Given the description of an element on the screen output the (x, y) to click on. 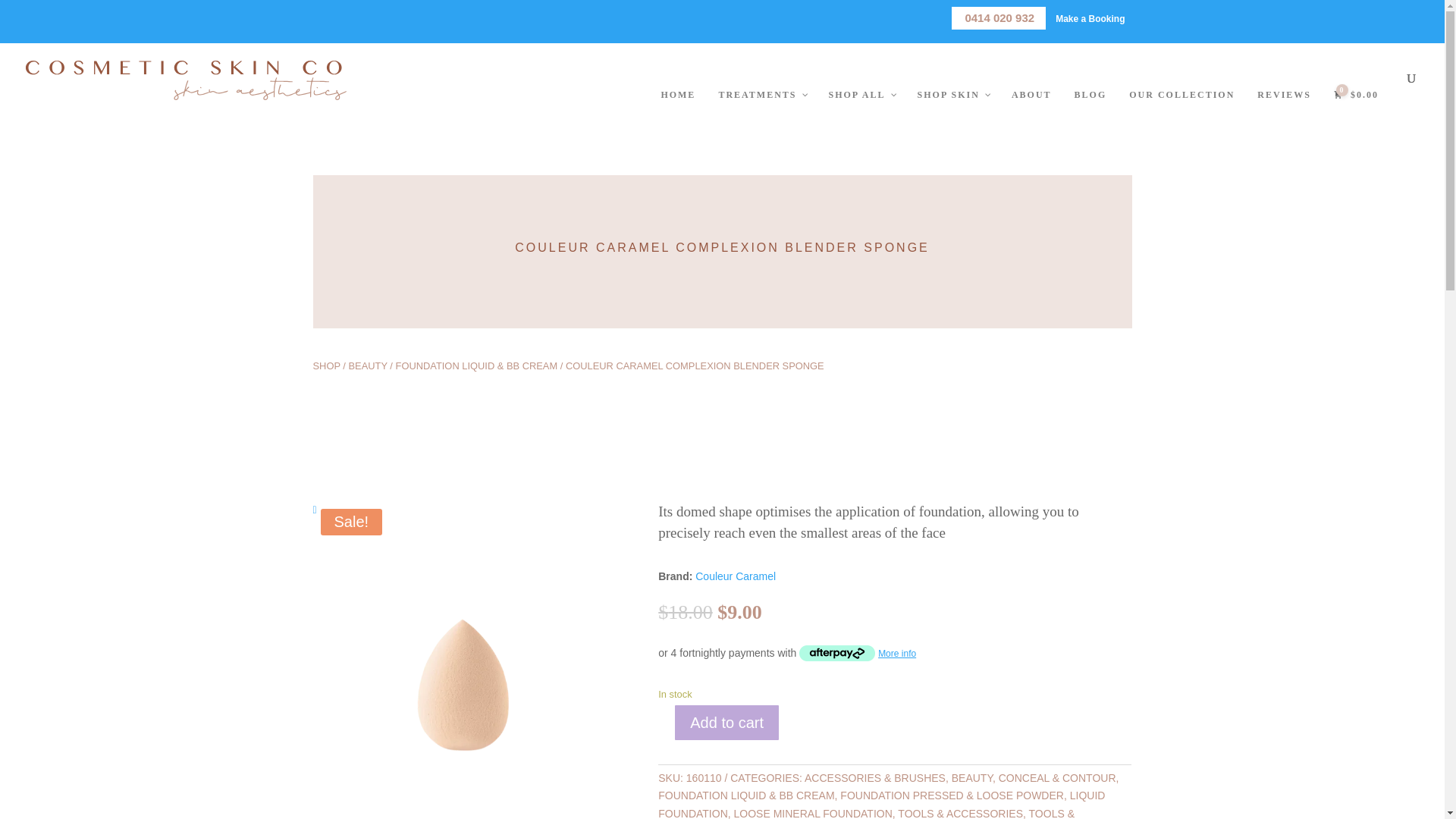
SHOP ALL (860, 94)
Complexion Blender Sponge (462, 668)
0414 020 932 (998, 16)
Make a Booking (1089, 18)
TREATMENTS (761, 94)
HOME (677, 94)
